Given the description of an element on the screen output the (x, y) to click on. 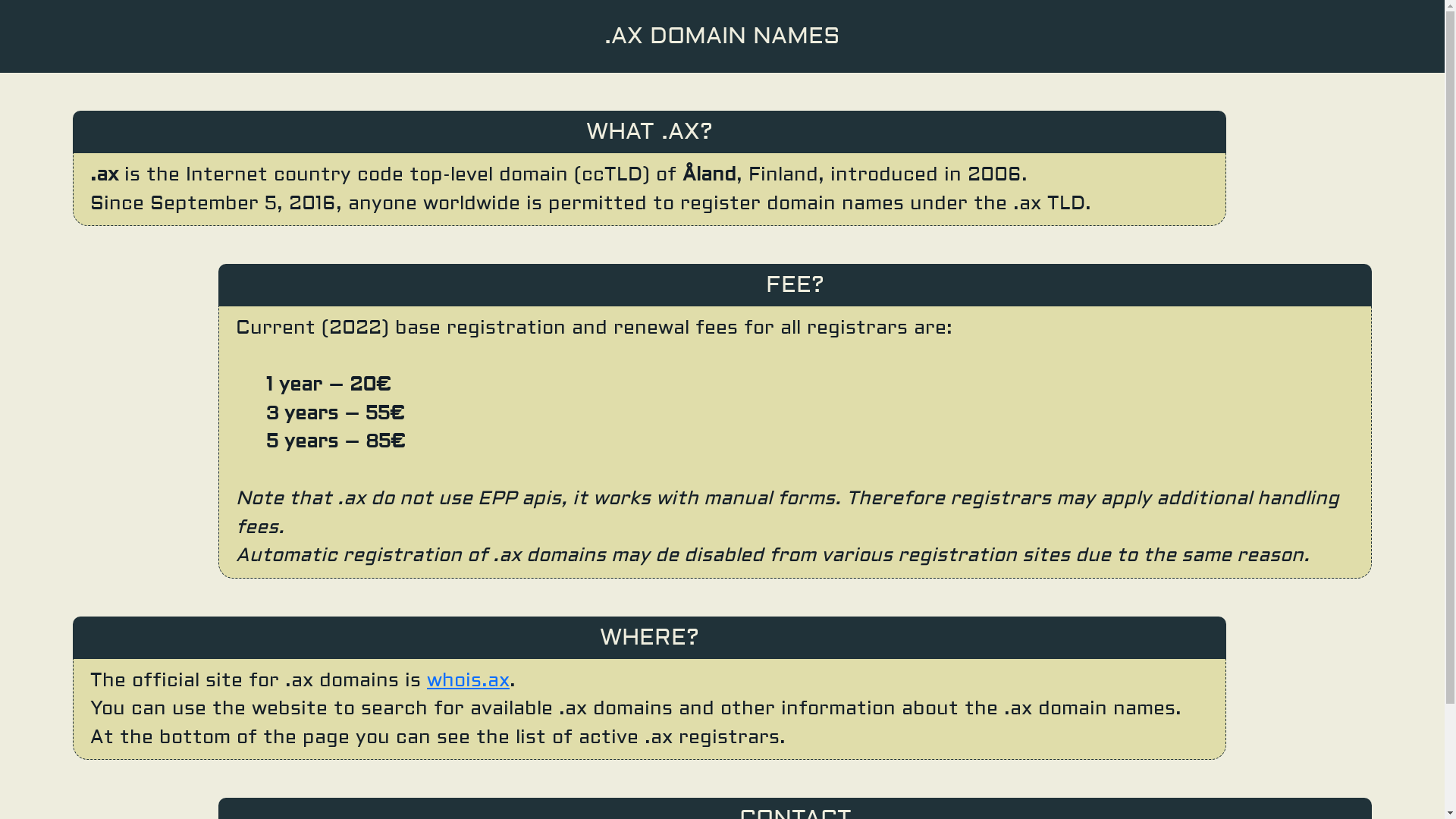
whois.ax Element type: text (467, 680)
